Given the description of an element on the screen output the (x, y) to click on. 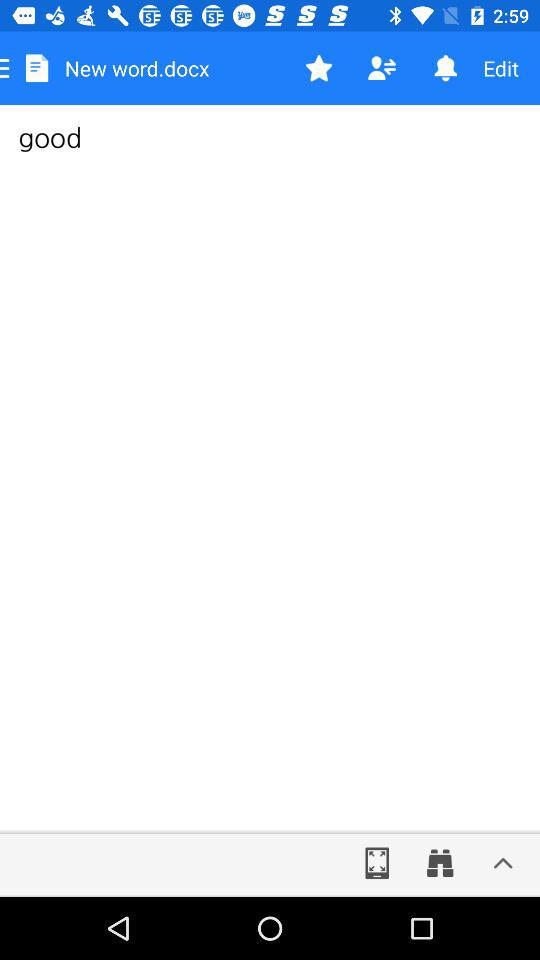
expand to full screen (377, 863)
